Given the description of an element on the screen output the (x, y) to click on. 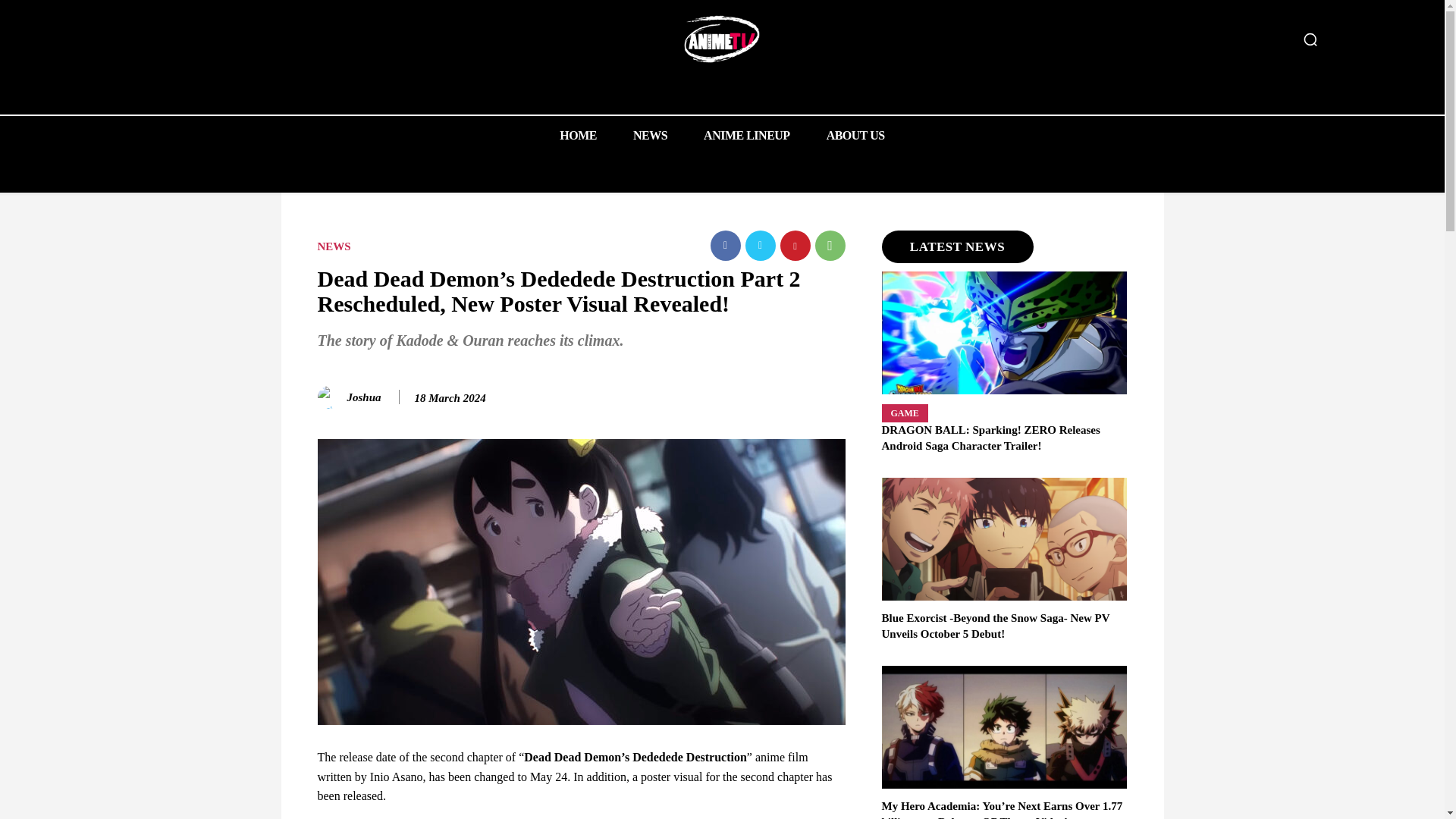
Joshua (330, 396)
Facebook (724, 245)
GAME (903, 413)
Pinterest (793, 245)
NEWS (333, 246)
NEWS (649, 135)
WhatsApp (828, 245)
ANIME LINEUP (746, 135)
